Given the description of an element on the screen output the (x, y) to click on. 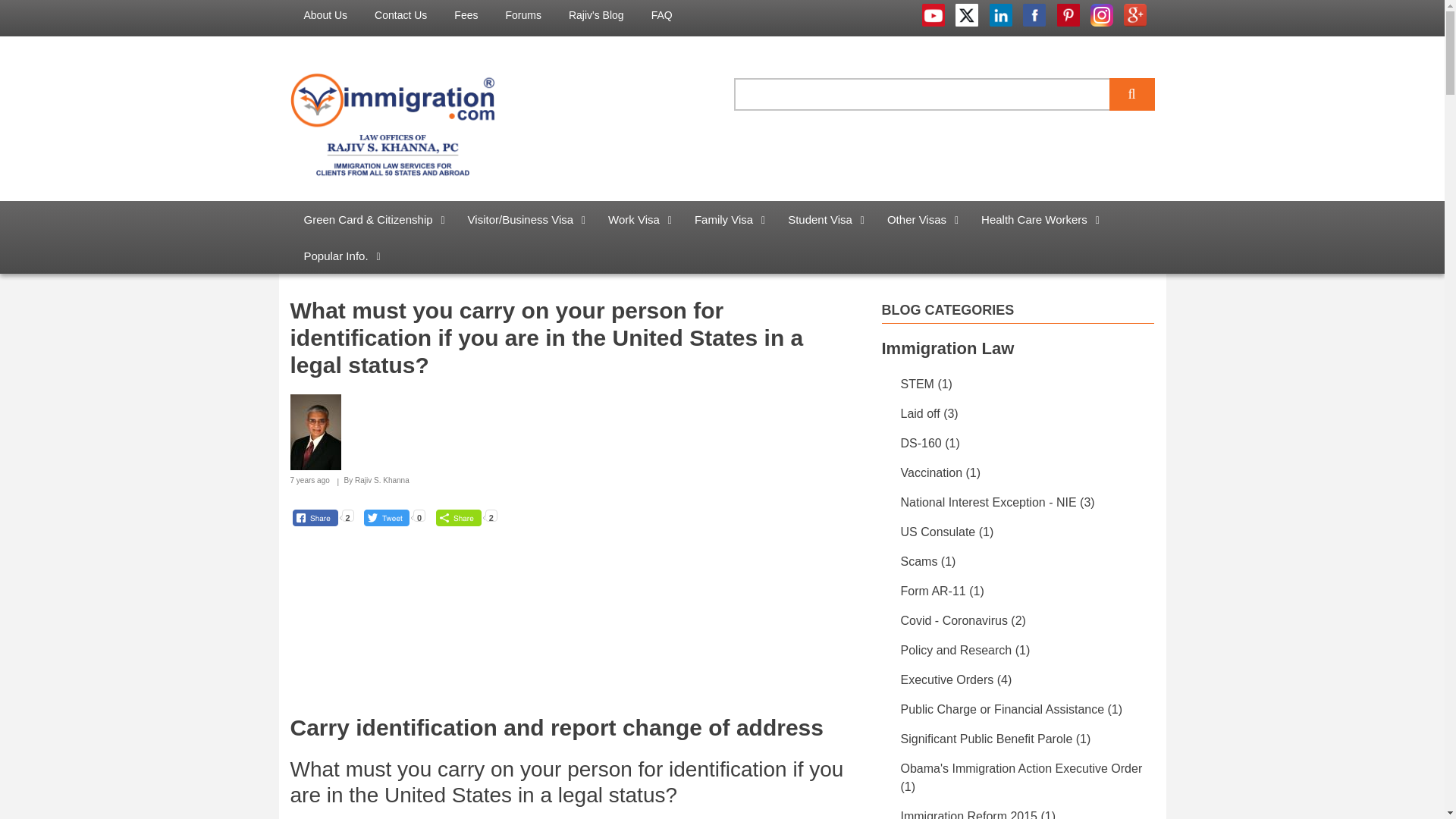
Apply (1131, 93)
Home (392, 123)
Contact Us (401, 15)
About Us (325, 15)
Rajiv's Blog (595, 15)
FAQs (661, 15)
FAQ (661, 15)
Apply (1131, 93)
Fees (466, 15)
Forums (523, 15)
